Given the description of an element on the screen output the (x, y) to click on. 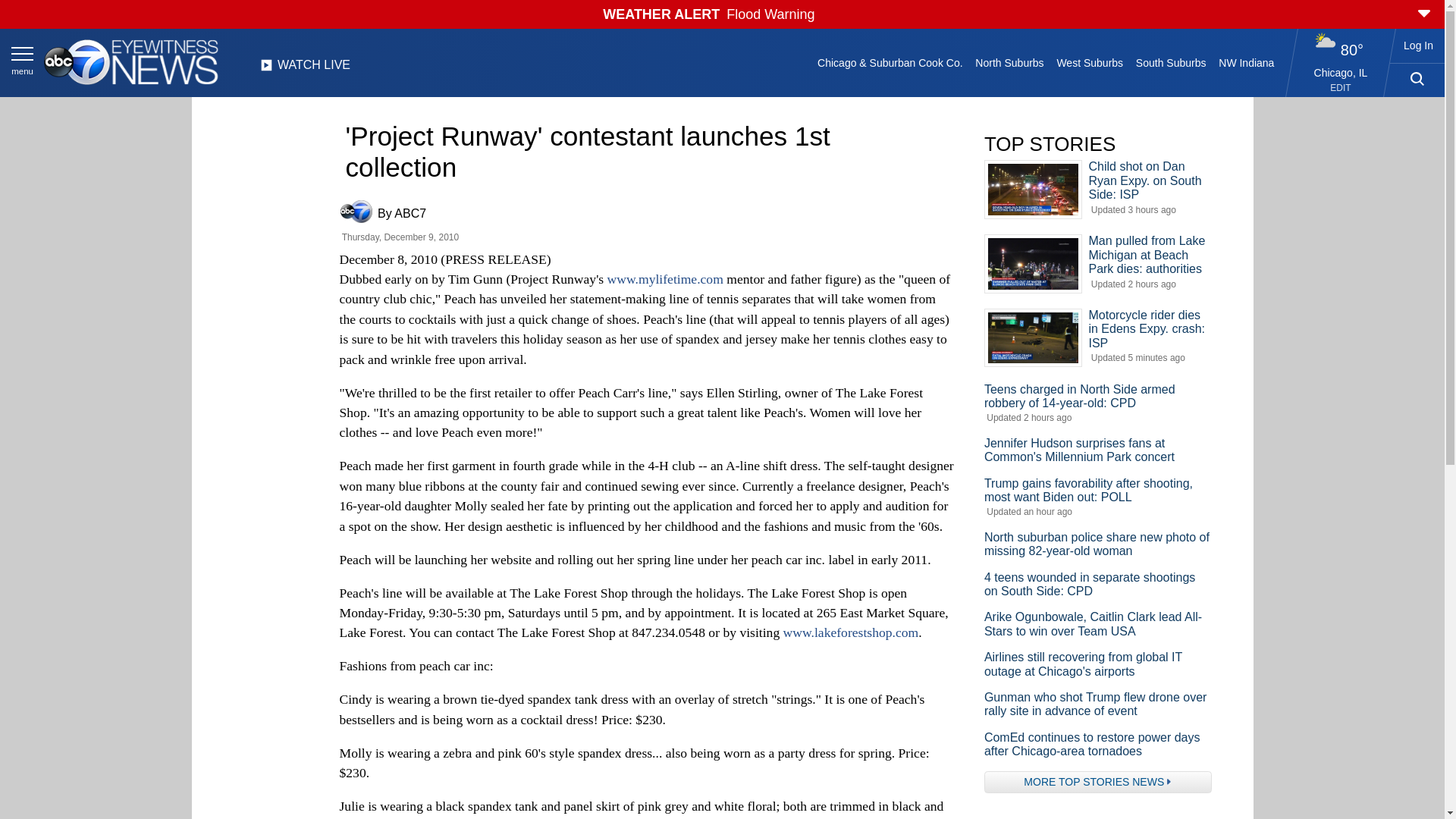
North Suburbs (1009, 62)
South Suburbs (1170, 62)
WATCH LIVE (305, 69)
West Suburbs (1089, 62)
Chicago, IL (1340, 72)
EDIT (1340, 87)
NW Indiana (1246, 62)
